Given the description of an element on the screen output the (x, y) to click on. 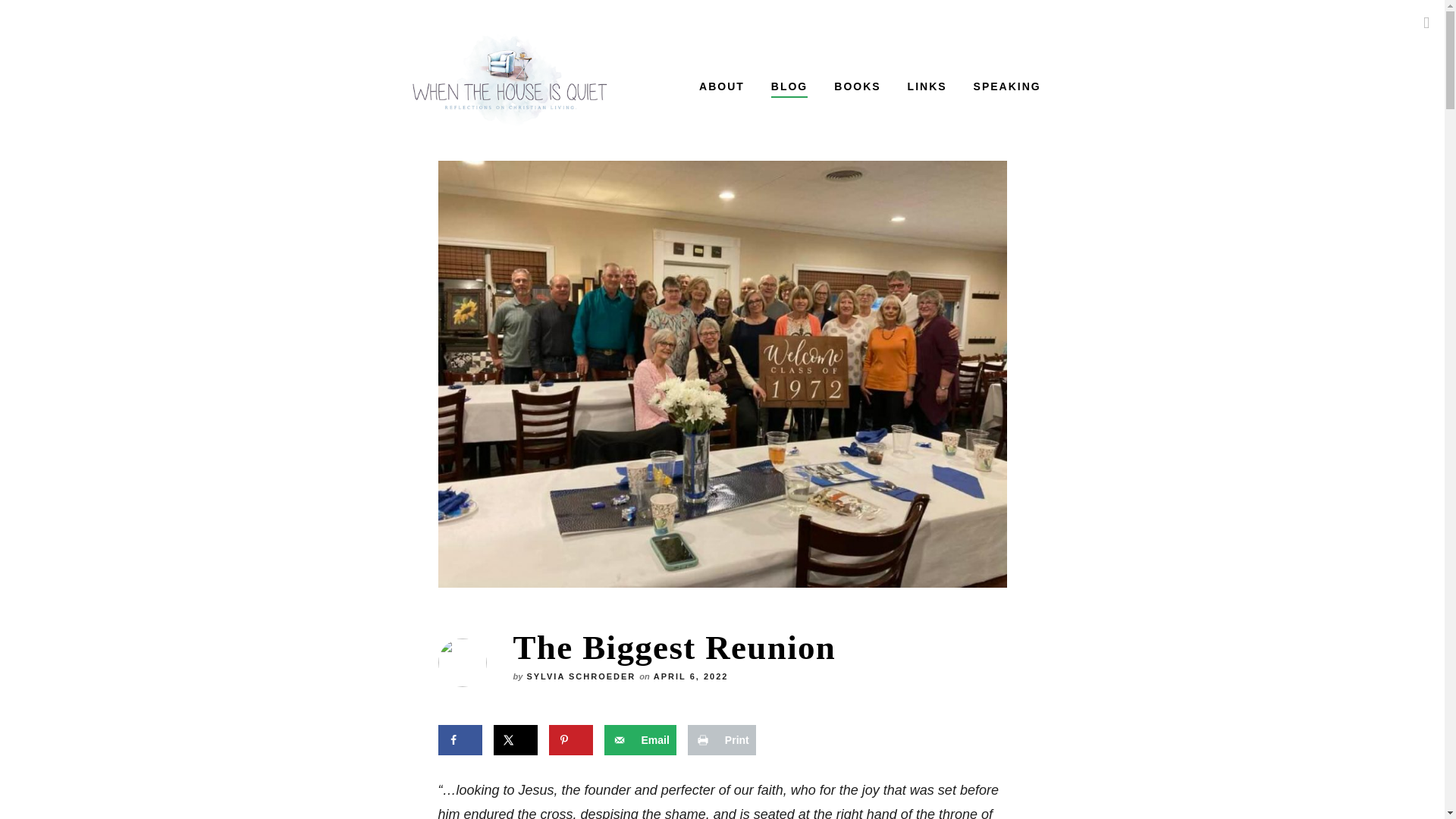
When the House is Quiet (535, 80)
Save to Pinterest (570, 739)
Send over email (639, 739)
Print this webpage (721, 739)
BOOKS (857, 89)
LINKS (927, 89)
ABOUT (721, 89)
SYLVIA SCHROEDER (579, 677)
SPEAKING (1007, 89)
Print (721, 739)
When the House is Quiet (509, 80)
Email (639, 739)
Share on Facebook (459, 739)
Share on X (515, 739)
BLOG (789, 89)
